Given the description of an element on the screen output the (x, y) to click on. 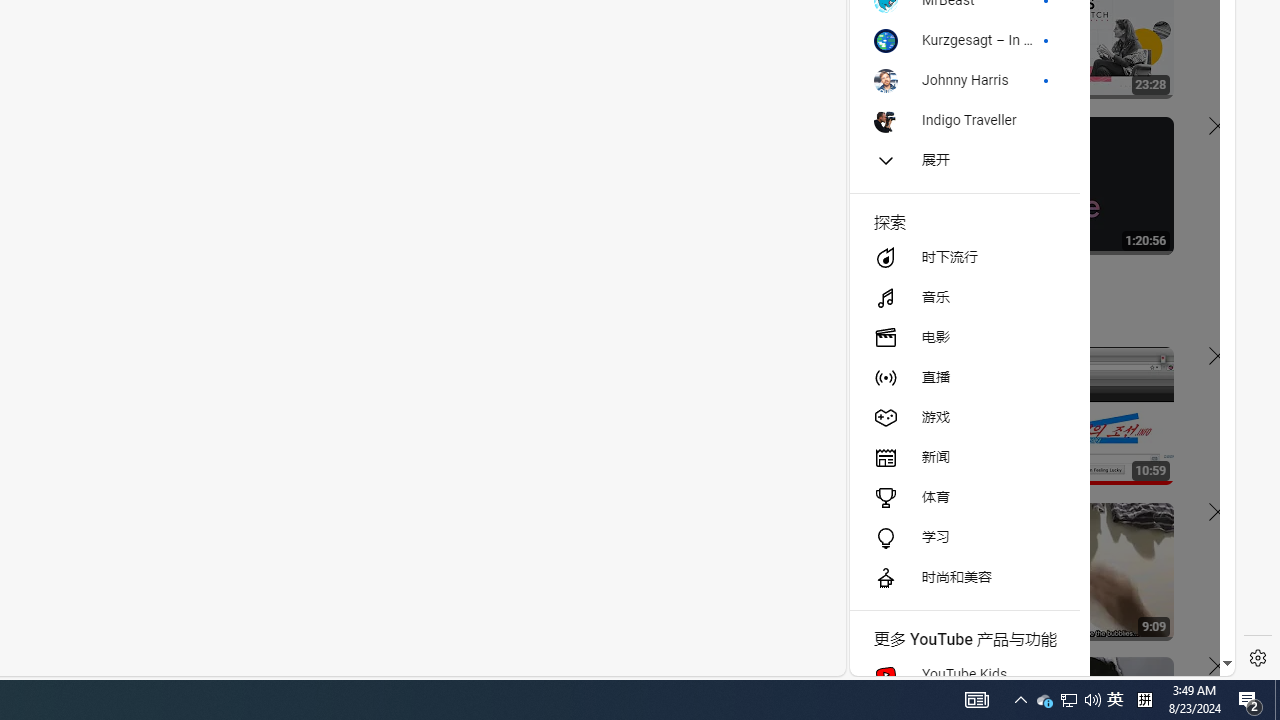
YouTube - YouTube (1034, 266)
you (1034, 609)
US[ju] (917, 660)
